Given the description of an element on the screen output the (x, y) to click on. 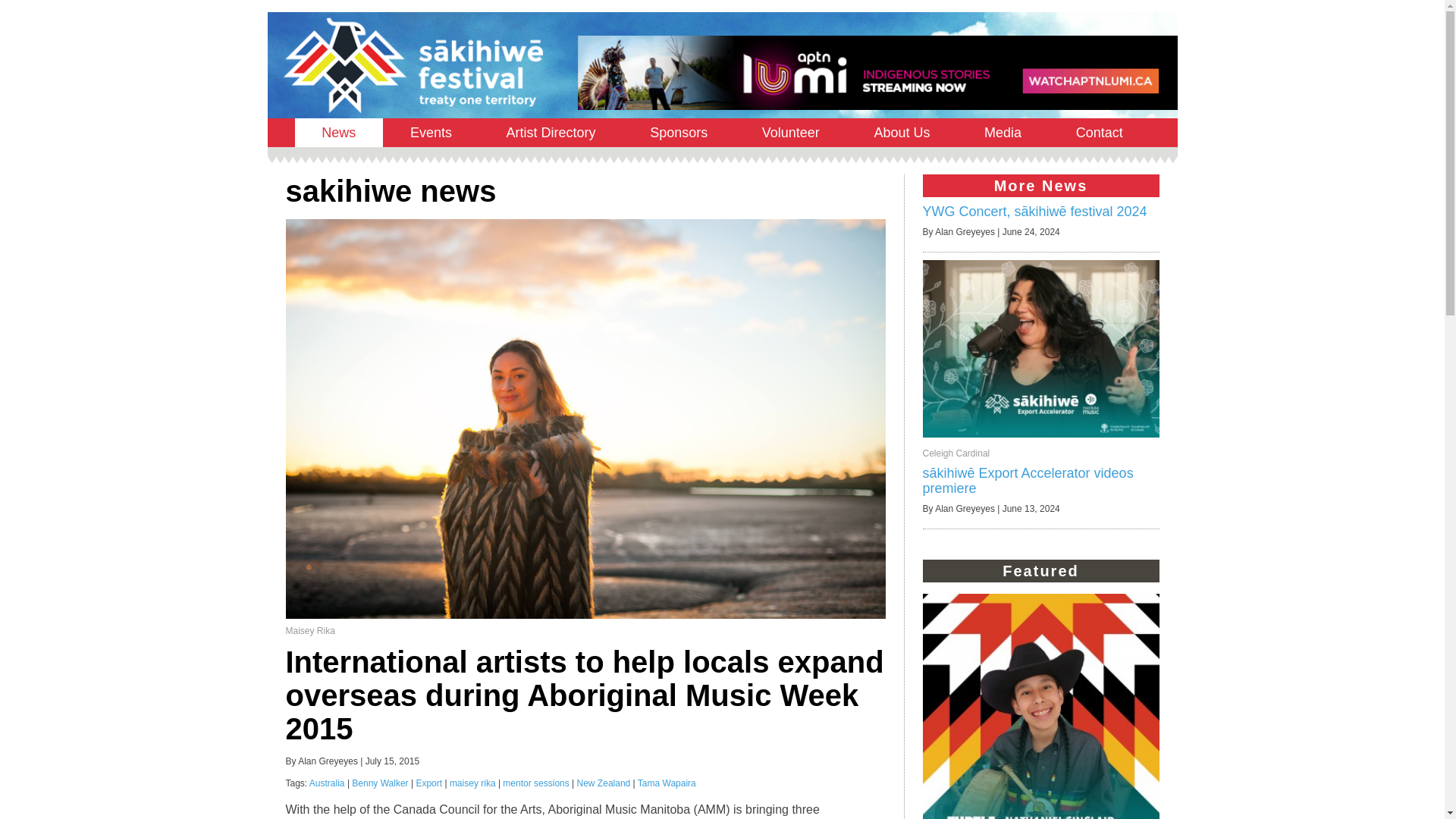
Events (430, 132)
Export (428, 783)
Media (1002, 132)
mentor sessions (535, 783)
maisey rika (472, 783)
News (338, 132)
About Us (902, 132)
Contact (1099, 132)
Australia (326, 783)
sakihiwe (411, 64)
Artist Directory (551, 132)
New Zealand (603, 783)
Tama Wapaira (666, 783)
Sponsors (679, 132)
Volunteer (791, 132)
